Given the description of an element on the screen output the (x, y) to click on. 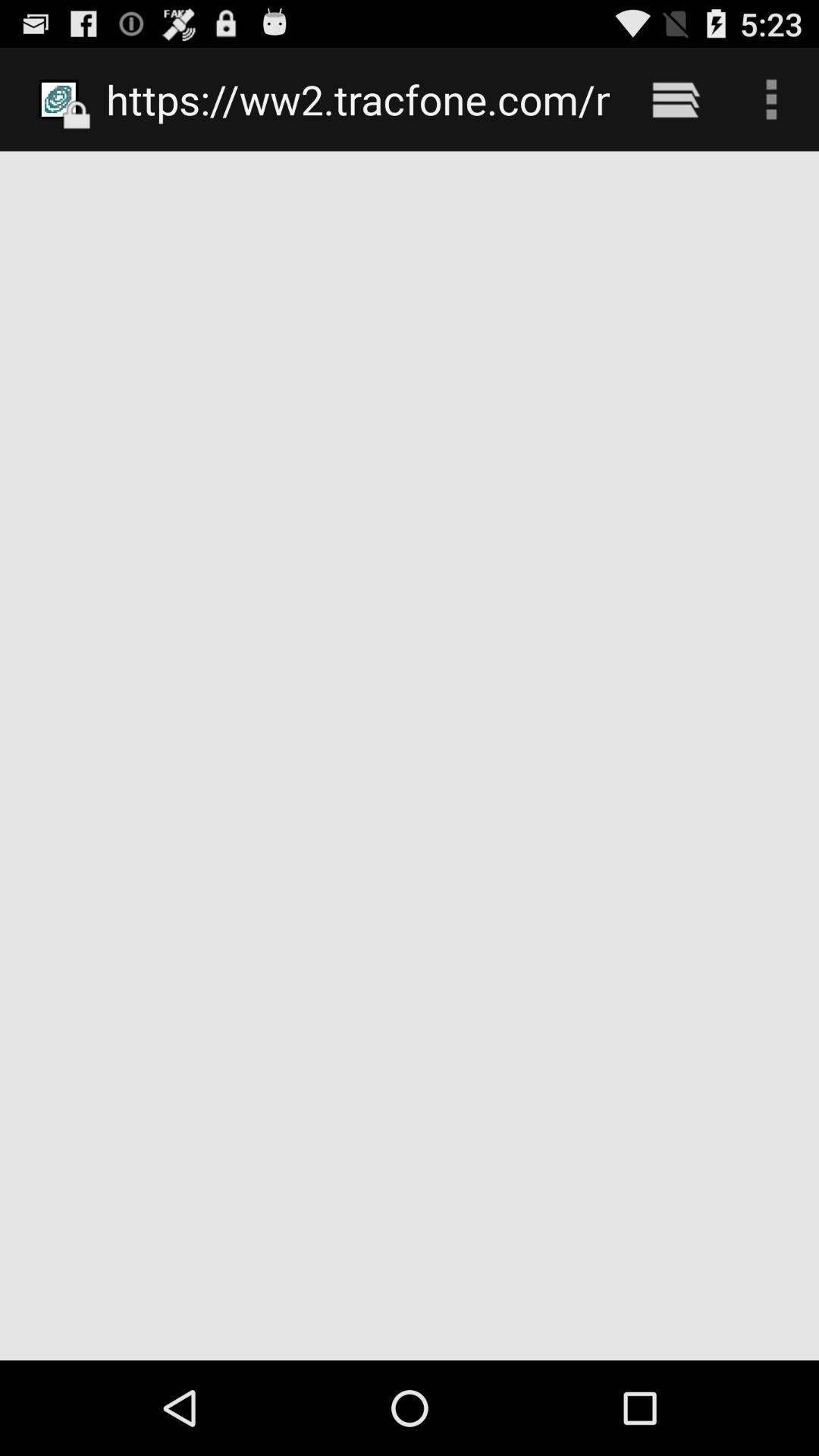
jump to the https ww2 tracfone (357, 99)
